Given the description of an element on the screen output the (x, y) to click on. 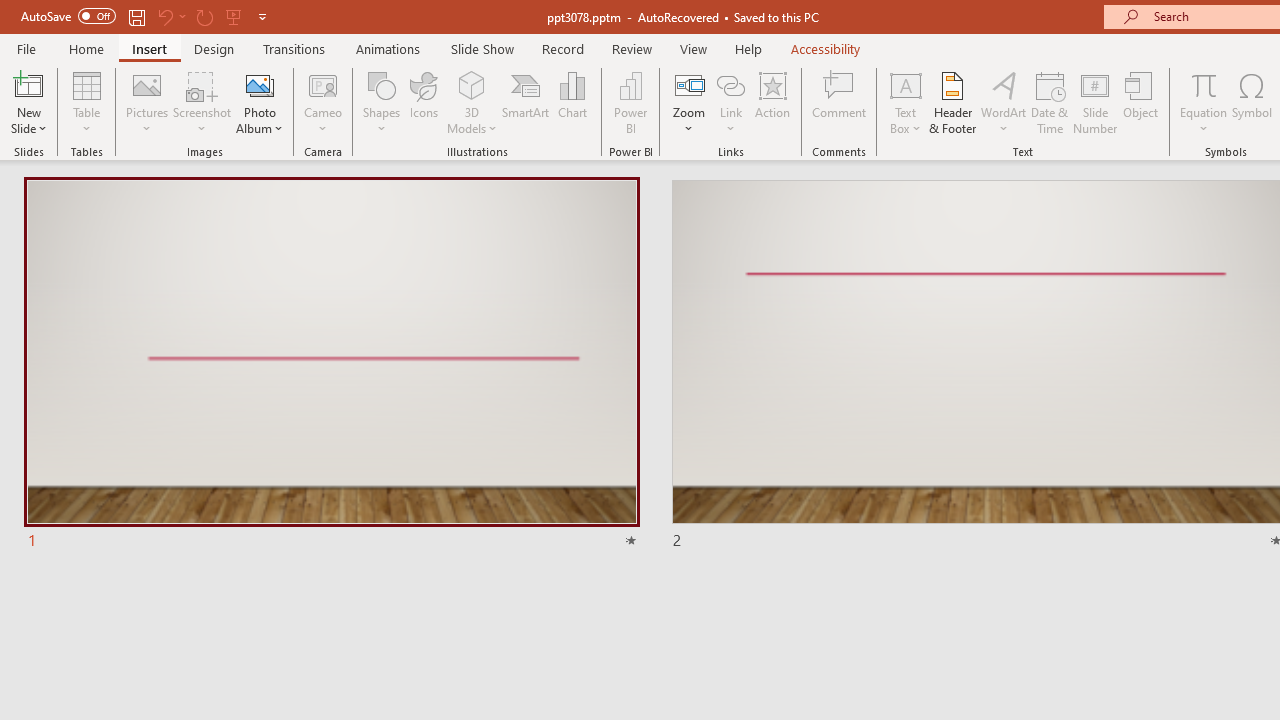
Power BI (630, 102)
File Tab (26, 48)
Equation (1203, 84)
Action (772, 102)
Text Box (905, 102)
Accessibility (825, 48)
WordArt (1004, 102)
Header & Footer... (952, 102)
Transitions (294, 48)
Symbol... (1252, 102)
Object... (1141, 102)
New Slide (28, 102)
Link (731, 102)
Link (731, 84)
Icons (424, 102)
